Given the description of an element on the screen output the (x, y) to click on. 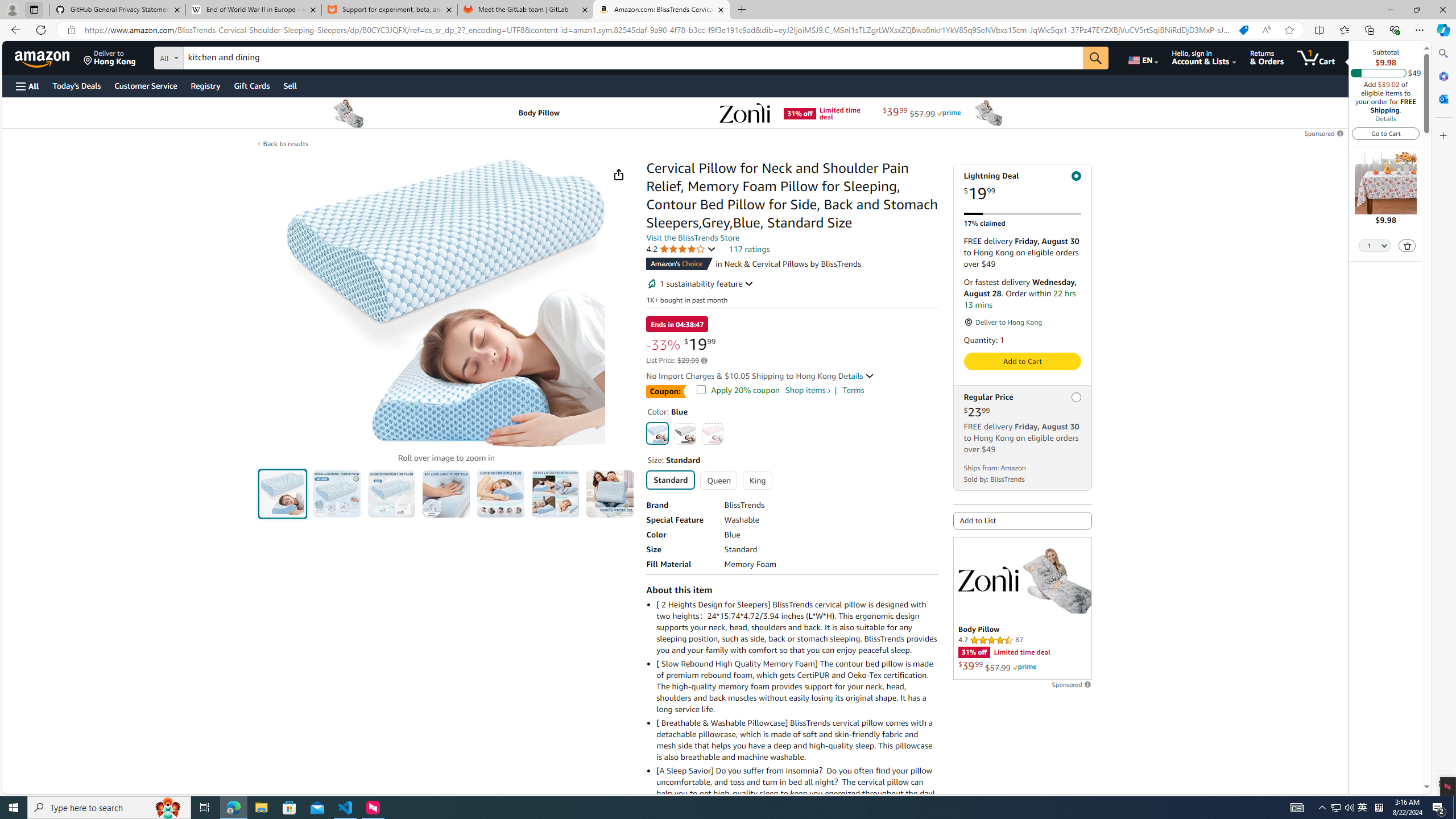
Returns & Orders (1266, 57)
Queen (718, 479)
Details  (855, 375)
Open Menu (26, 86)
Deliver to Hong Kong (109, 57)
Go (1096, 57)
Shop items (806, 389)
Search Amazon (633, 57)
